Given the description of an element on the screen output the (x, y) to click on. 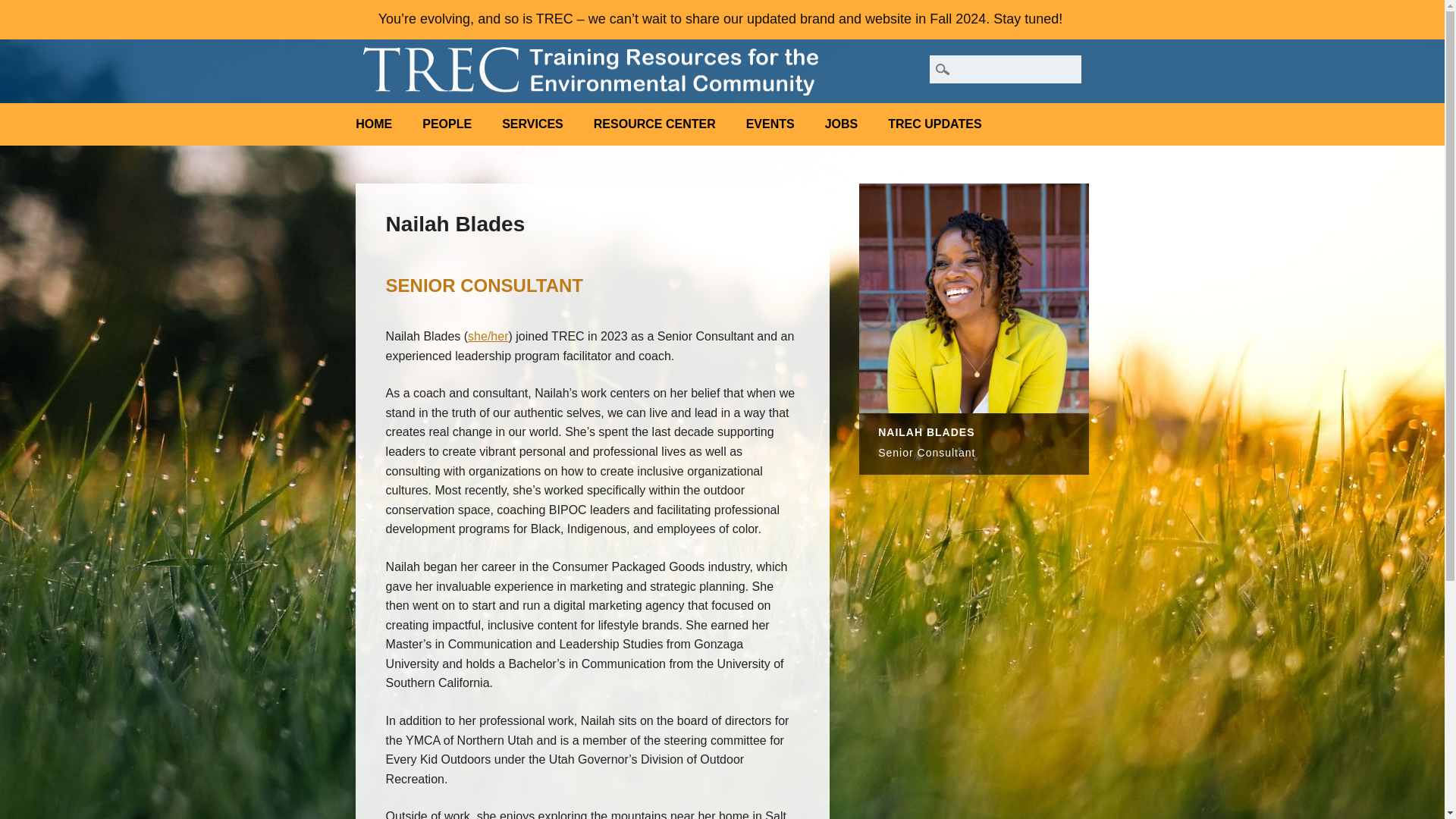
Search (24, 9)
SERVICES (532, 124)
PEOPLE (446, 124)
RESOURCE CENTER (654, 124)
HOME (373, 124)
EVENTS (769, 124)
JOBS (841, 124)
